Given the description of an element on the screen output the (x, y) to click on. 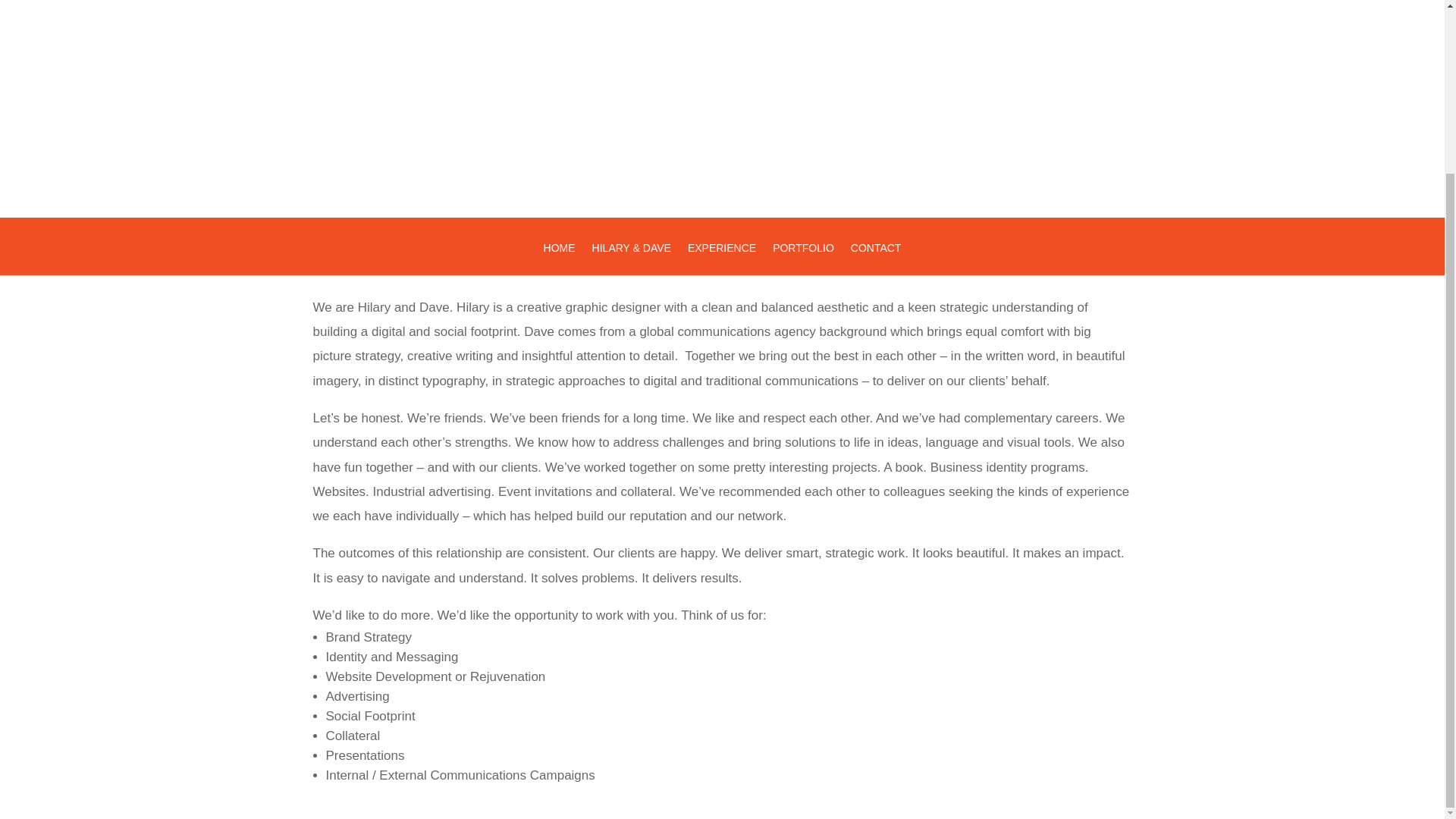
CONTACT (875, 258)
PORTFOLIO (803, 258)
EXPERIENCE (721, 258)
HOME (559, 258)
